Given the description of an element on the screen output the (x, y) to click on. 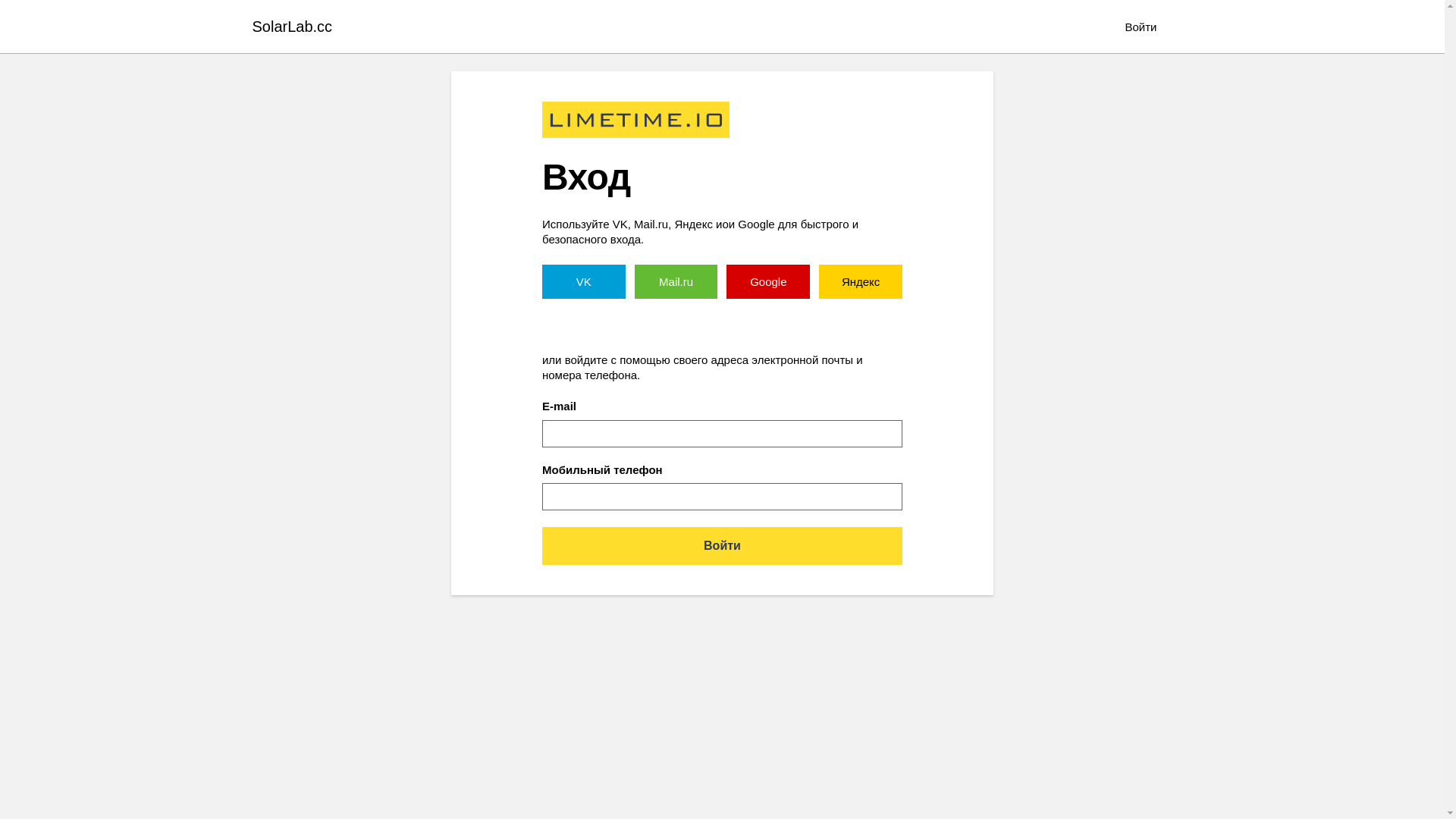
SolarLab.cc Element type: text (291, 26)
Google Element type: text (767, 281)
Mail.ru Element type: text (676, 281)
VK Element type: text (583, 281)
